Given the description of an element on the screen output the (x, y) to click on. 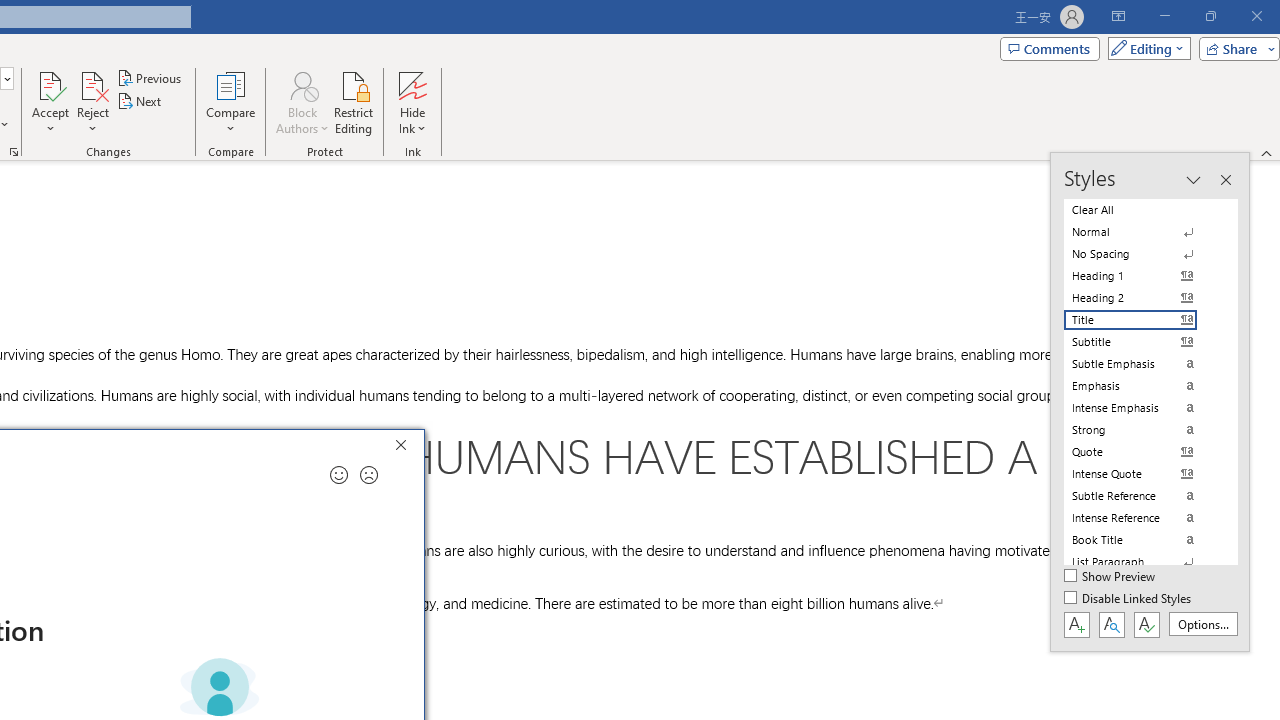
Reject and Move to Next (92, 84)
Intense Reference (1142, 517)
Next (140, 101)
Hide Ink (412, 84)
Normal (1142, 232)
Subtle Emphasis (1142, 363)
Emphasis (1142, 385)
Reject (92, 102)
Book Title (1142, 539)
Block Authors (302, 102)
